Given the description of an element on the screen output the (x, y) to click on. 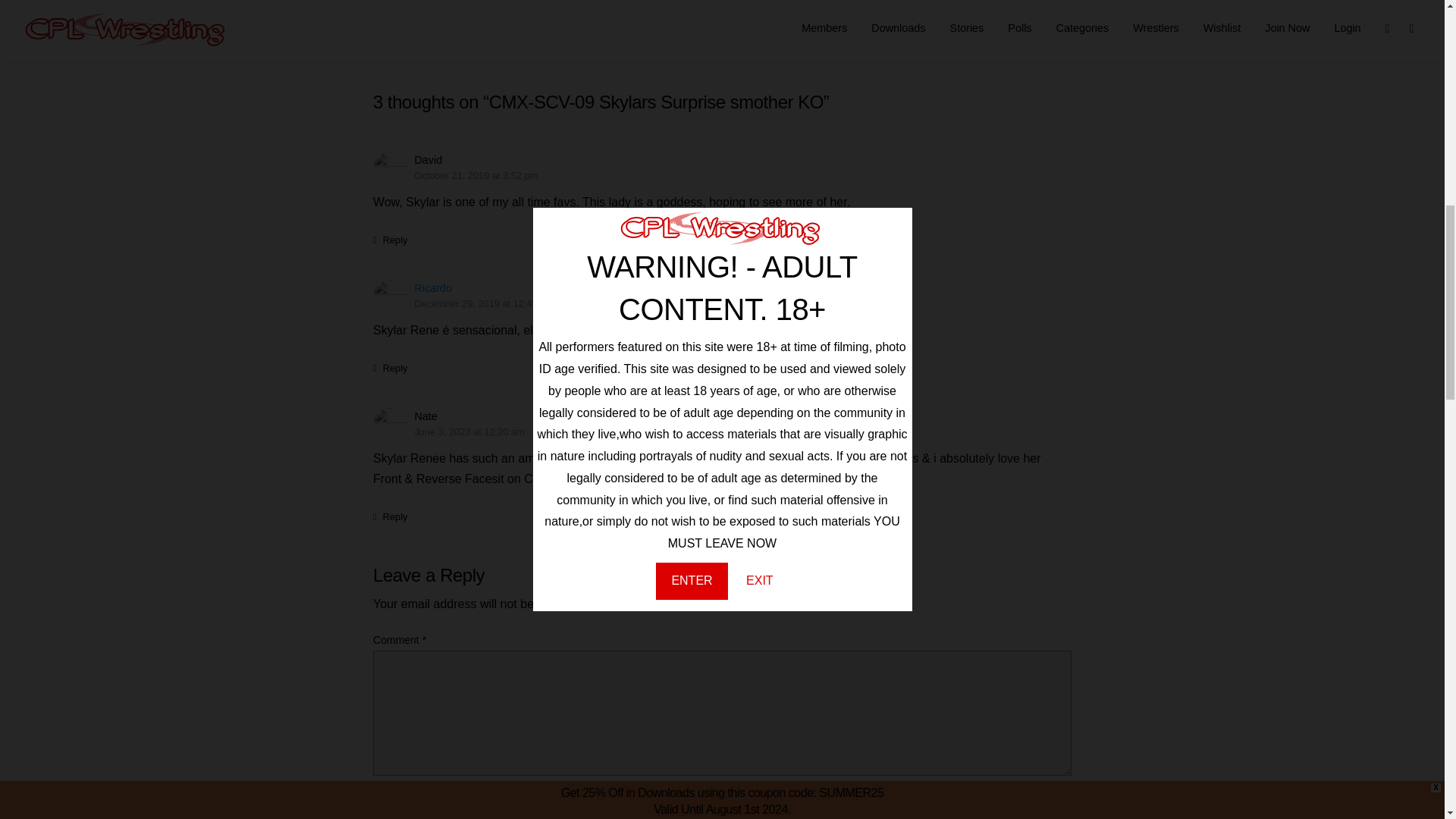
December 29, 2019 at 12:41 am (483, 303)
Reply (389, 239)
October 21, 2019 at 3:52 pm (475, 175)
Ricardo (432, 287)
